Given the description of an element on the screen output the (x, y) to click on. 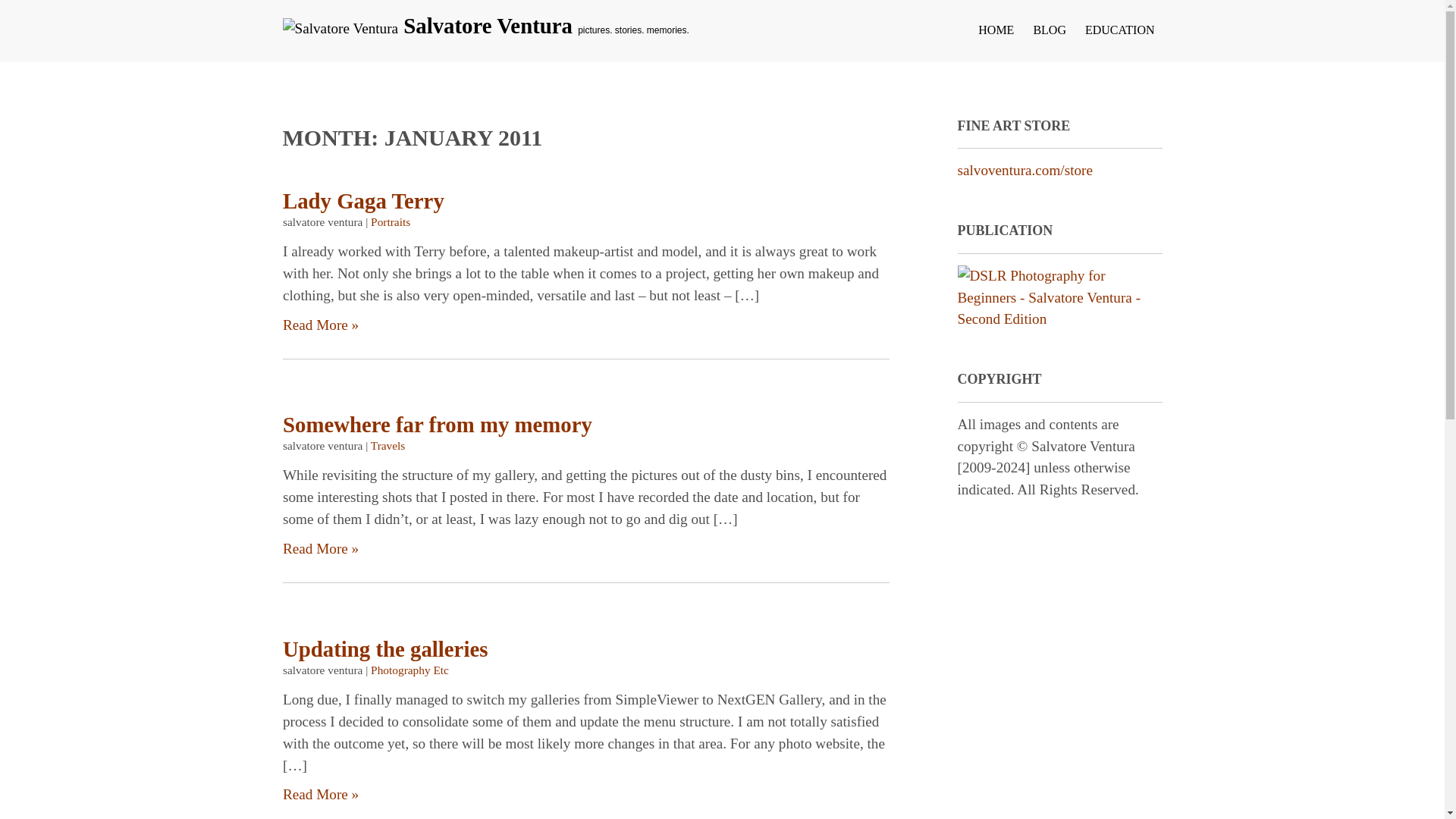
EDUCATION (1117, 36)
Updating the galleries (384, 648)
BLOG (1048, 36)
HOME (994, 36)
Somewhere far from my memory (436, 424)
Lady Gaga Terry (363, 200)
Portraits (390, 221)
Salvatore Ventura (490, 25)
Photography Etc (409, 669)
Travels (386, 445)
